Given the description of an element on the screen output the (x, y) to click on. 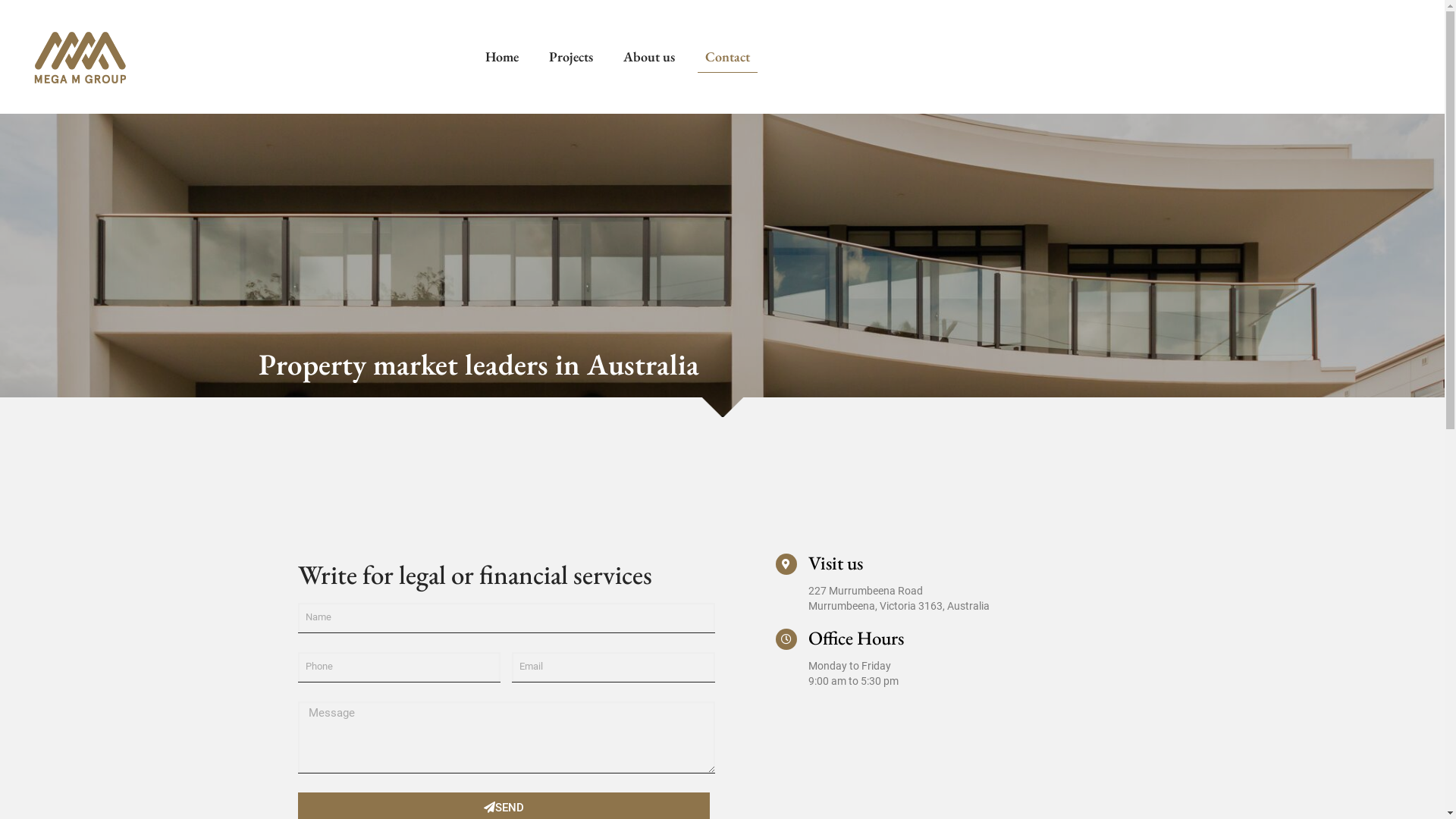
Home Element type: text (501, 56)
Mega M Group Element type: hover (79, 56)
Contact Element type: text (727, 56)
About us Element type: text (649, 56)
Projects Element type: text (570, 56)
